Given the description of an element on the screen output the (x, y) to click on. 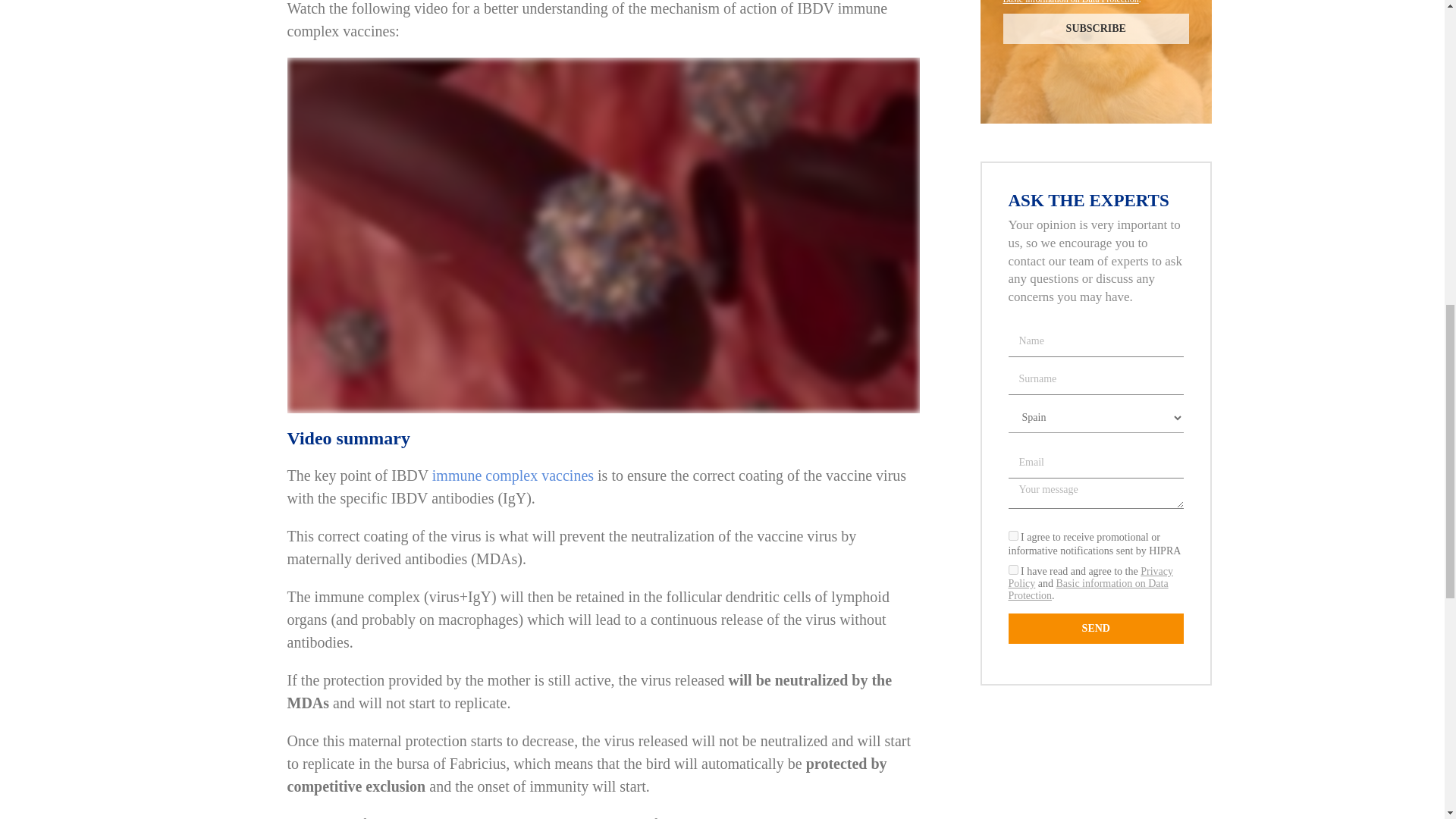
Basic information on Data Protection (1089, 589)
Subscribe (1096, 28)
1 (1013, 569)
Basic information on Data Protection (1070, 2)
immune complex vaccines (513, 475)
SEND (1097, 628)
Subscribe (1096, 28)
Privacy Policy (1091, 576)
SEND (1097, 628)
